Given the description of an element on the screen output the (x, y) to click on. 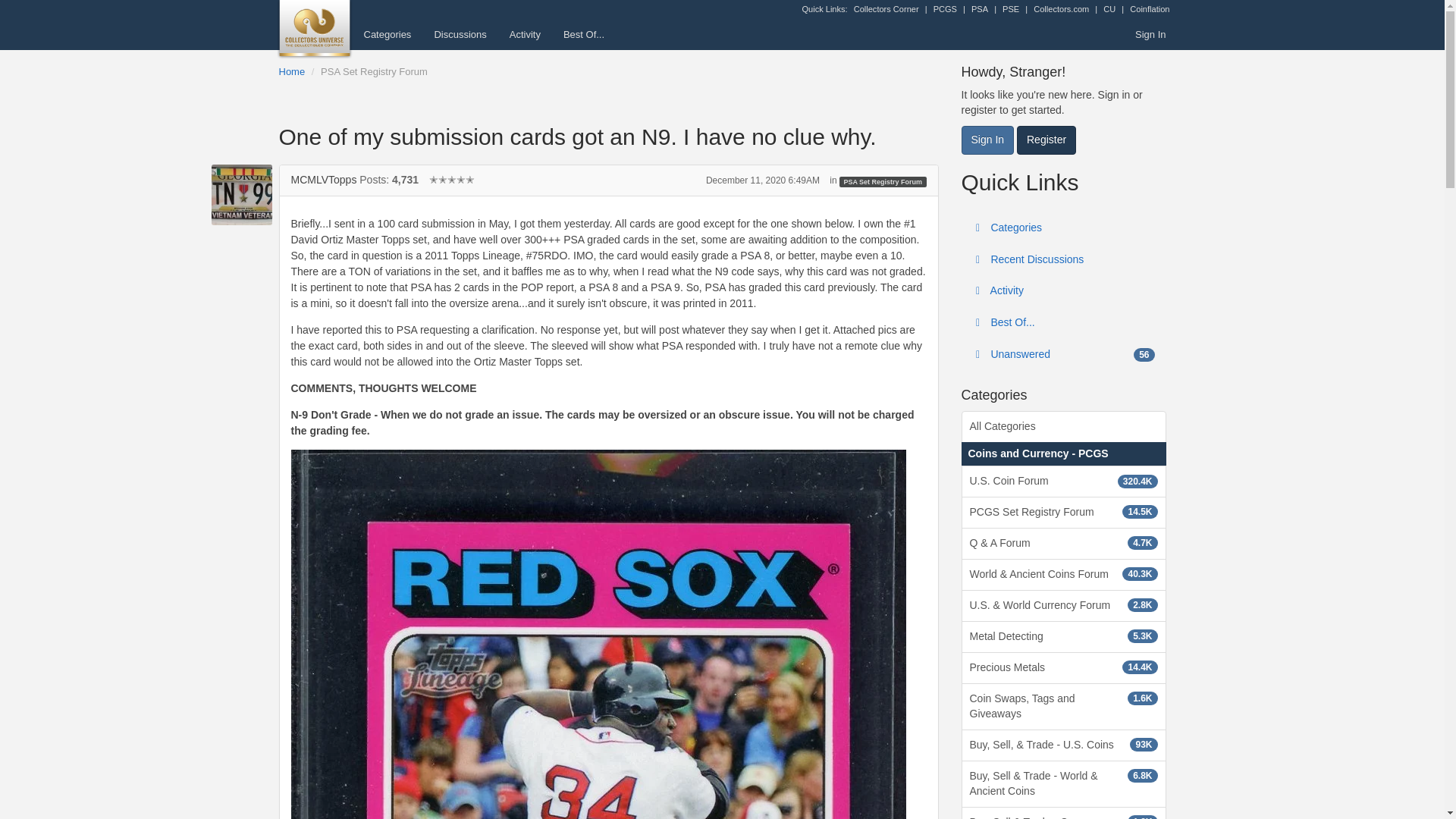
Discussions (459, 34)
PSE - Professional Stamp Experts (1011, 8)
PSA (979, 8)
Master Collector (451, 179)
CU (1109, 8)
PCGS - Professional Coin Grading (944, 8)
PCGS (944, 8)
Activity (524, 34)
PSA Set Registry Forum (883, 181)
PSA Set Registry Forum (374, 71)
